Given the description of an element on the screen output the (x, y) to click on. 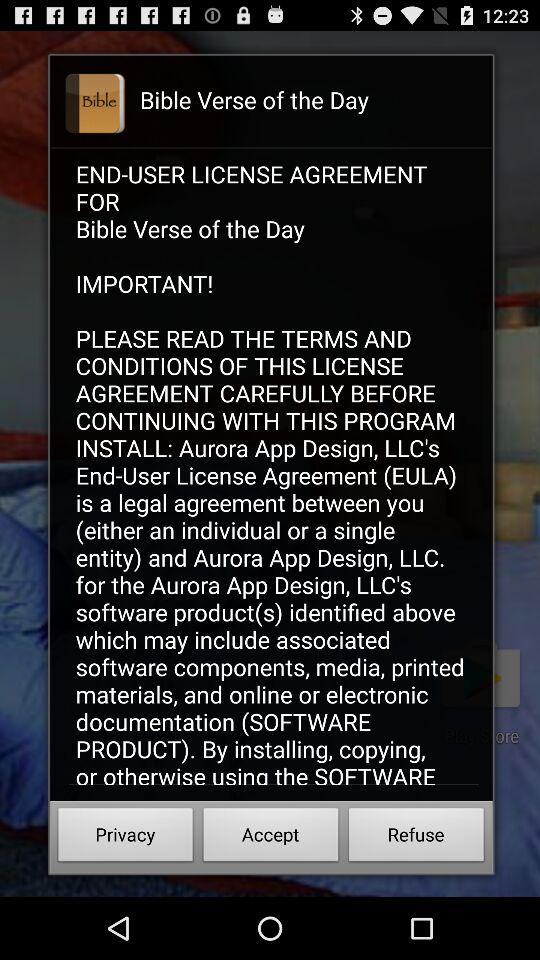
swipe to refuse icon (416, 837)
